Given the description of an element on the screen output the (x, y) to click on. 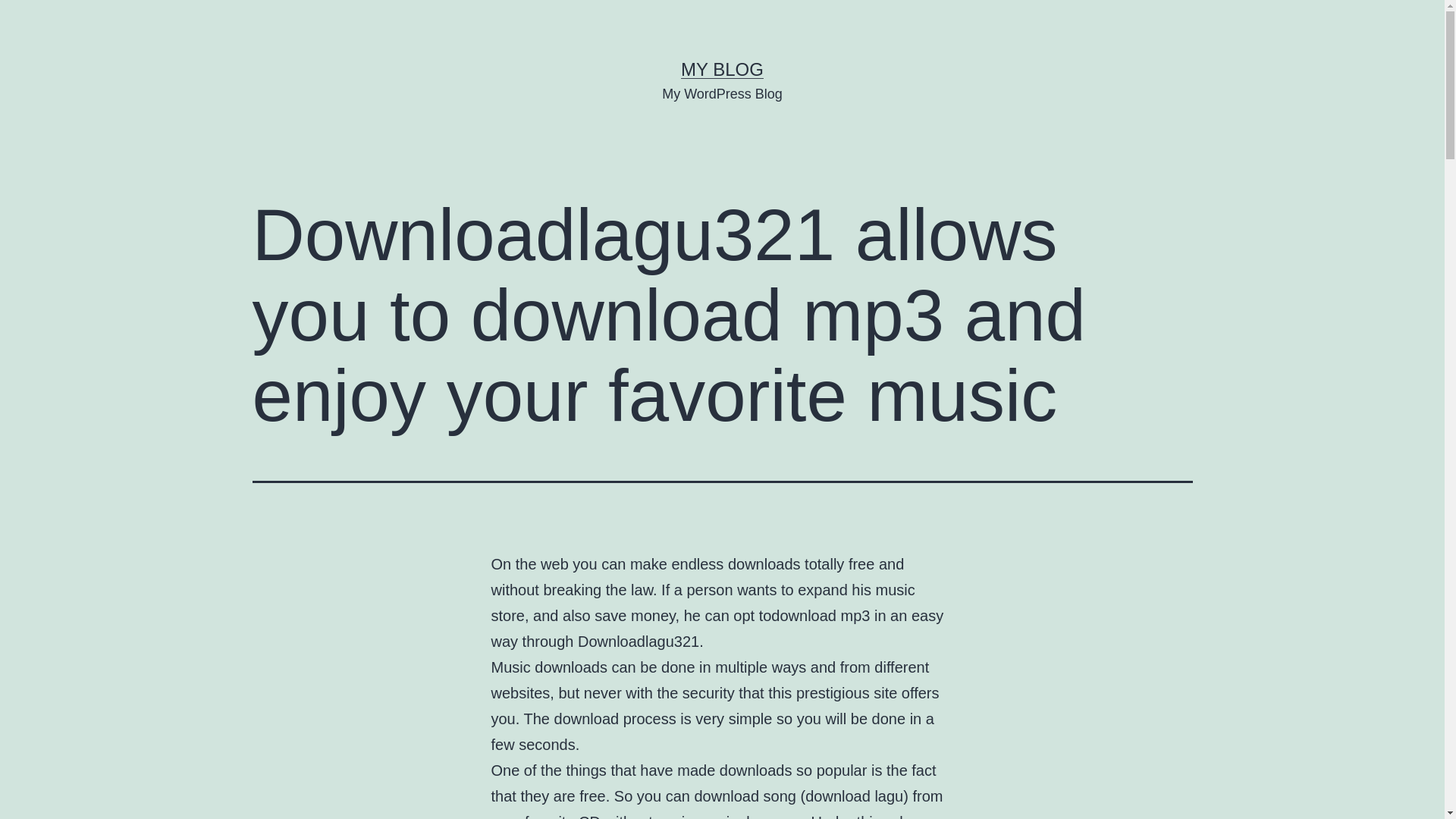
MY BLOG (721, 68)
